Given the description of an element on the screen output the (x, y) to click on. 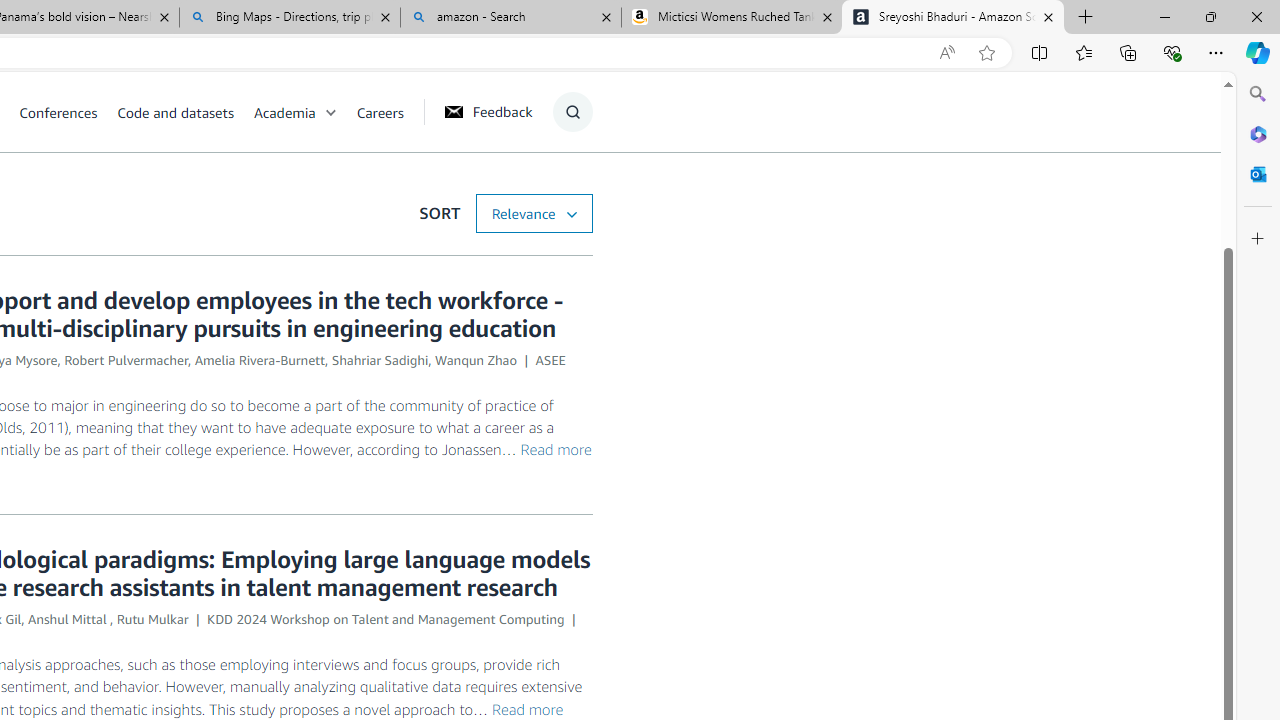
Sreyoshi Bhaduri - Amazon Science (953, 17)
Code and datasets (184, 111)
SORT (533, 213)
Outlook (1258, 174)
Careers (379, 111)
Conferences (68, 111)
